Given the description of an element on the screen output the (x, y) to click on. 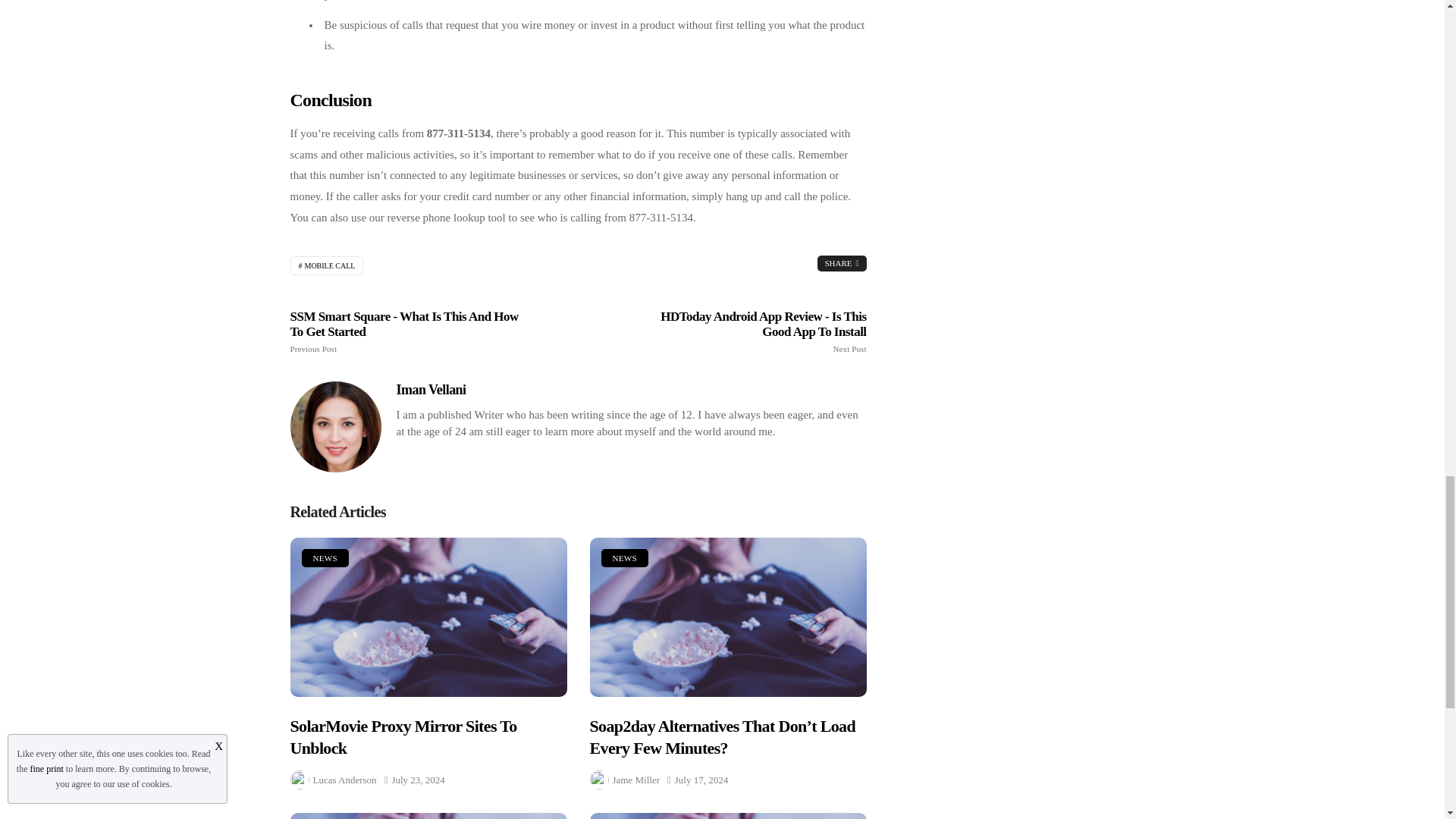
Is FMovies Safe and Legal? Does This Website Have Viruses? (727, 816)
MOBILE CALL (325, 265)
Why does yts.mx deserve to go on the naughty list? (427, 816)
SolarMovie Proxy Mirror Sites To Unblock (427, 617)
Posts by Lucas Anderson (344, 779)
Posts by Jame Miller (635, 779)
Iman Vellani (430, 389)
